Given the description of an element on the screen output the (x, y) to click on. 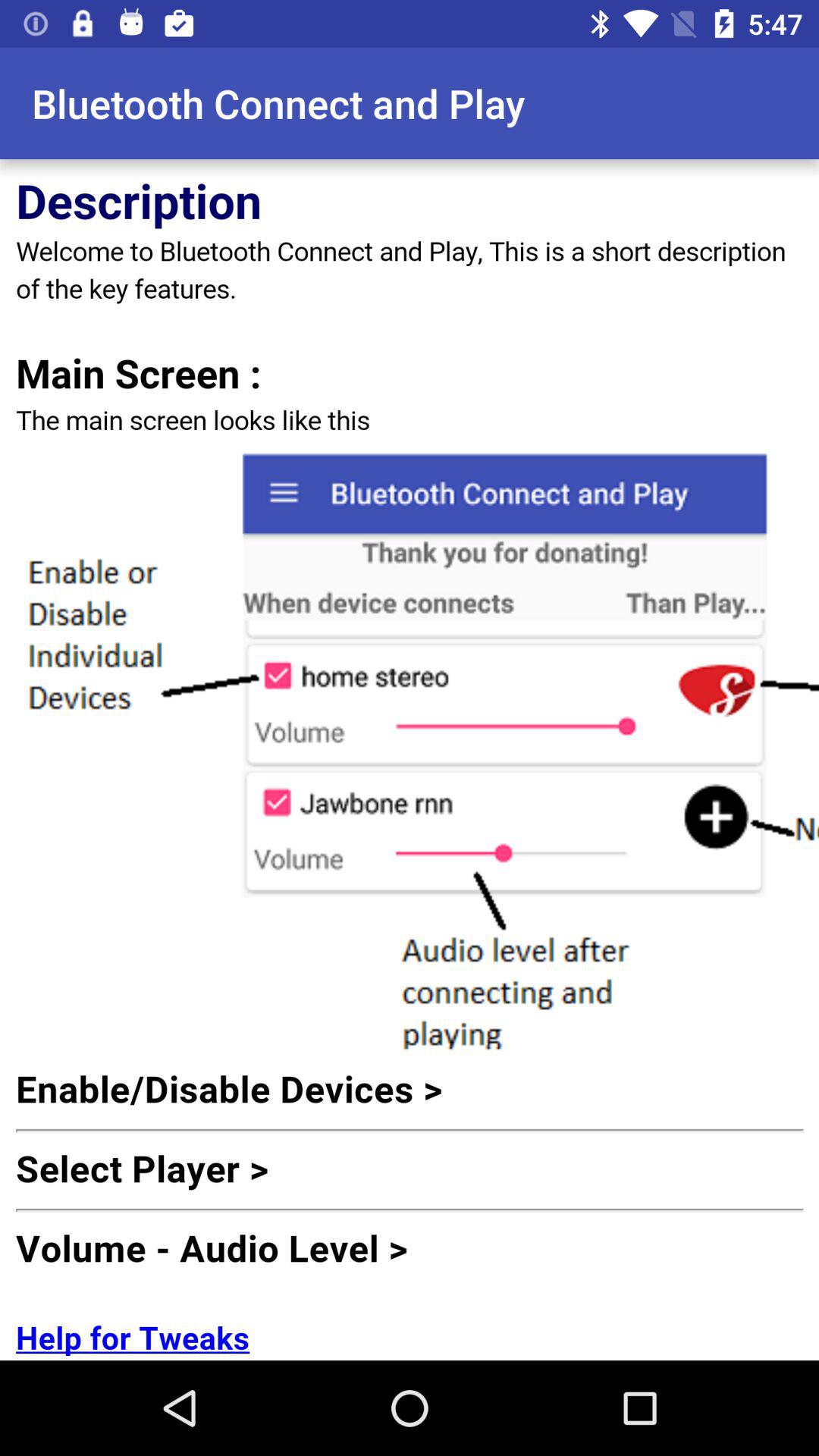
click entire page (409, 759)
